Given the description of an element on the screen output the (x, y) to click on. 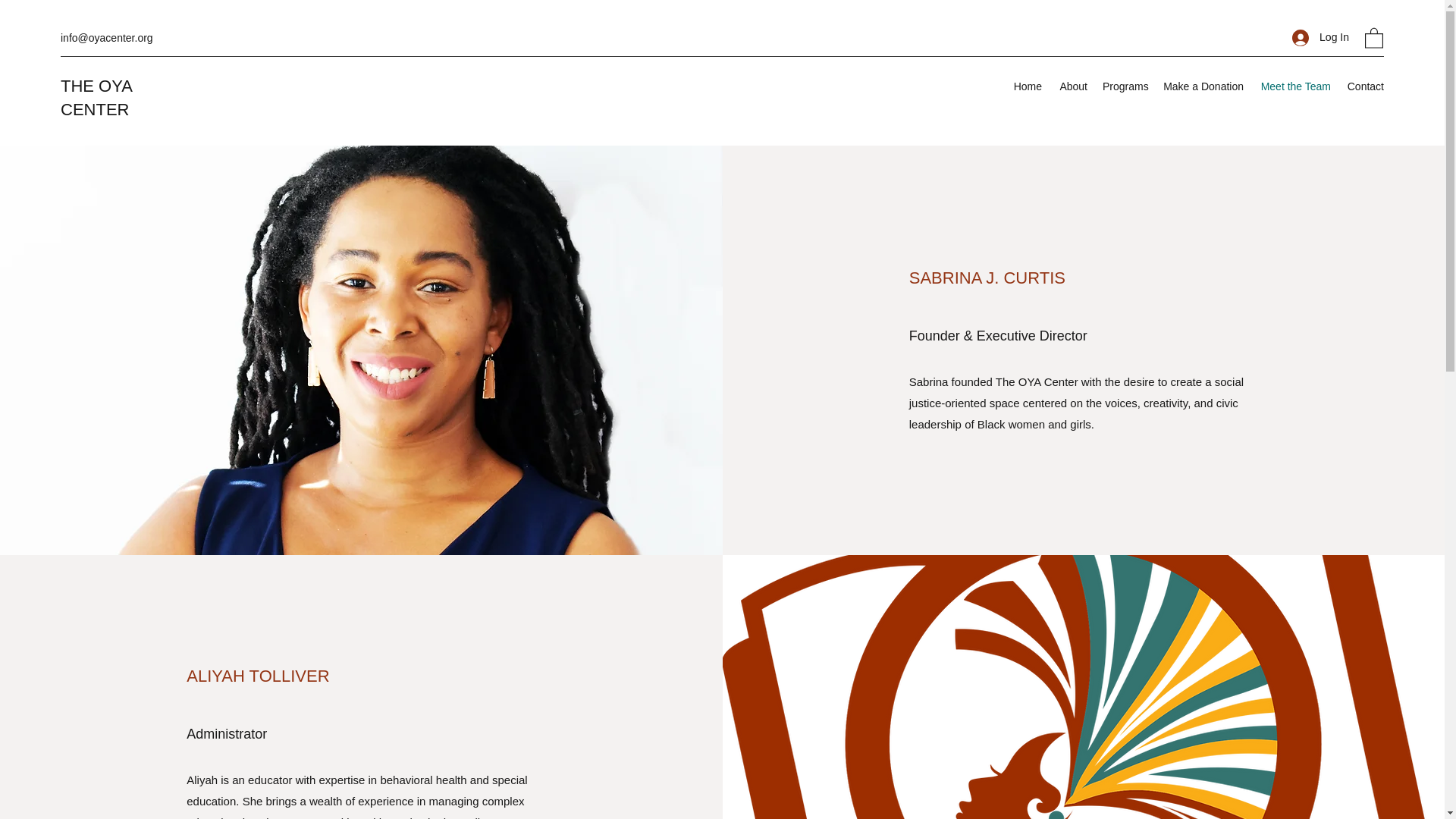
Home (1027, 86)
Programs (1125, 86)
Contact (1364, 86)
Log In (1320, 37)
THE OYA CENTER (96, 97)
About (1071, 86)
Make a Donation (1203, 86)
Meet the Team (1294, 86)
